Given the description of an element on the screen output the (x, y) to click on. 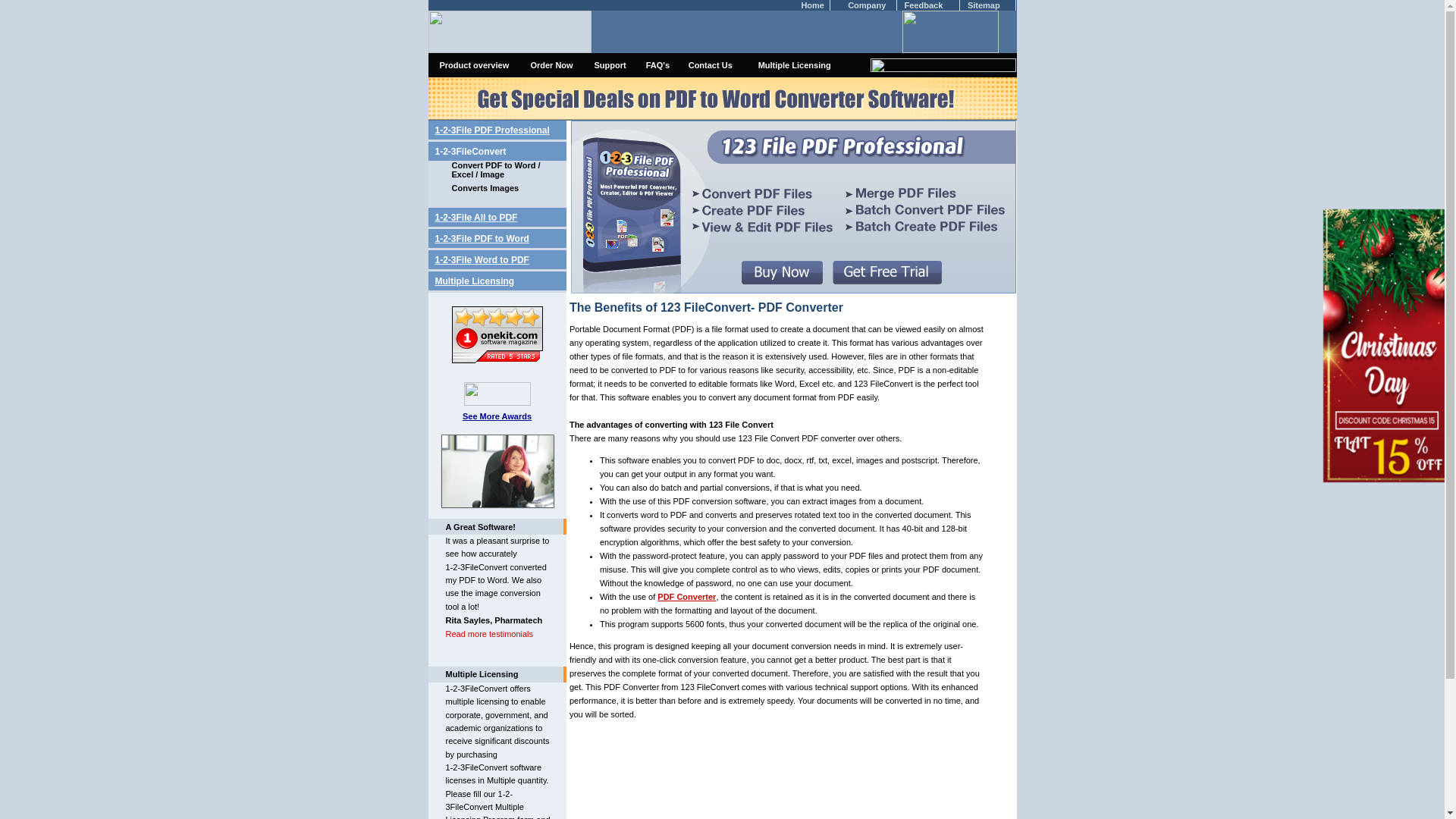
1-2-3File PDF to Word Element type: text (482, 238)
Multiple Licensing Element type: text (474, 281)
Read more testimonials Element type: text (489, 633)
Multiple Licensing Element type: text (794, 64)
Convert PDF to Word /
Excel / Image Element type: text (495, 169)
FAQ's Element type: text (657, 64)
Product overview Element type: text (474, 64)
Company Element type: text (866, 4)
Contact Us Element type: text (710, 64)
See More Awards Element type: text (496, 415)
Home Element type: text (812, 4)
1-2-3File Word to PDF Element type: text (482, 259)
1-2-3File PDF Professional Element type: text (492, 129)
Converts Images Element type: text (485, 187)
Support Element type: text (609, 64)
1-2-3File All to PDF Element type: text (476, 217)
Feedback Element type: text (923, 4)
PDF Converter Element type: text (686, 596)
Sitemap Element type: text (983, 4)
Order Now Element type: text (551, 64)
